Given the description of an element on the screen output the (x, y) to click on. 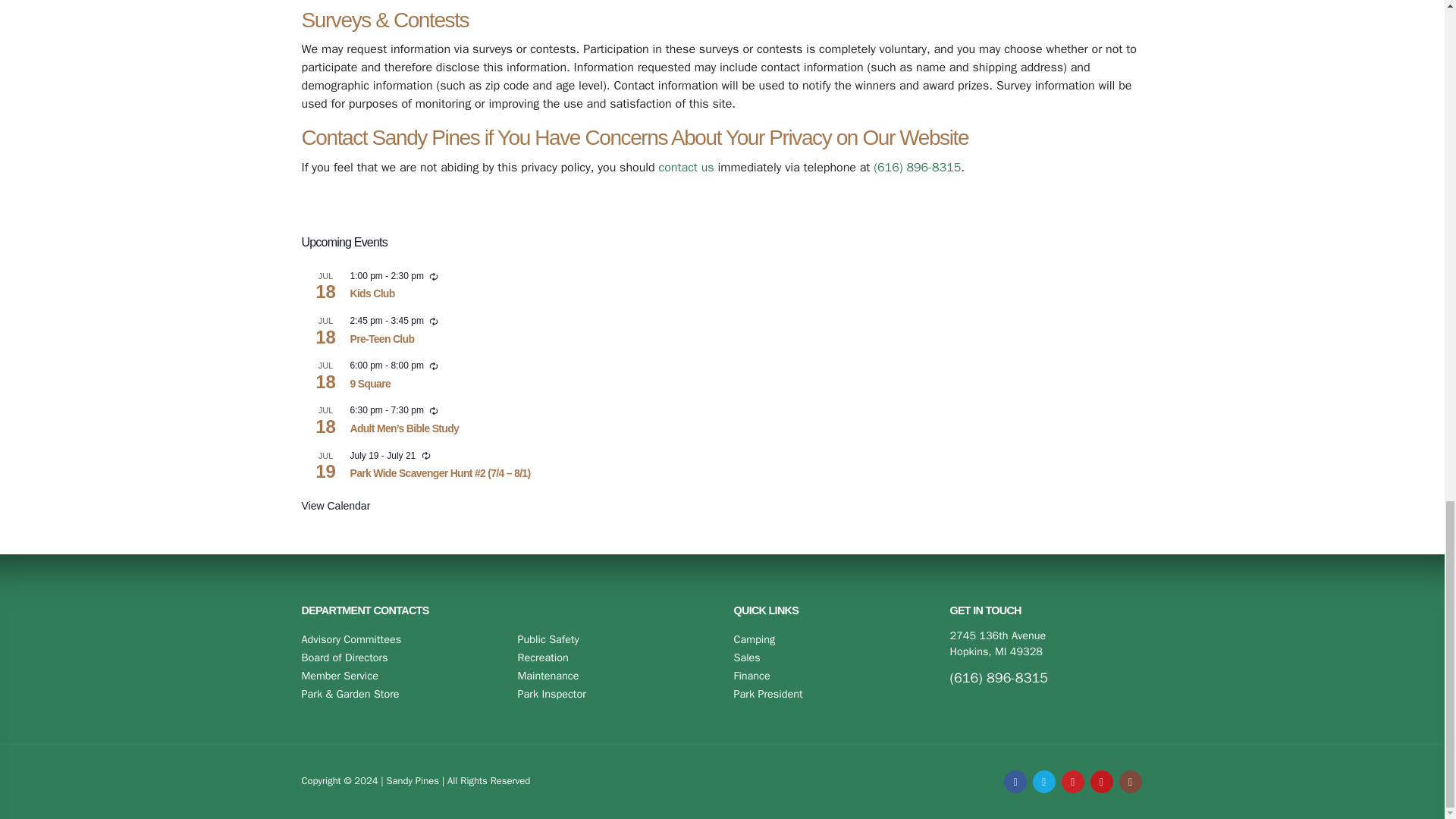
Recurring (433, 320)
9 Square (370, 383)
Recurring (426, 455)
Pre-Teen Club (382, 338)
Kids Club (372, 293)
Recurring (433, 366)
contact us (685, 167)
Recurring (433, 410)
Pre-Teen Club (382, 338)
Kids Club (372, 293)
Recurring (433, 276)
